Given the description of an element on the screen output the (x, y) to click on. 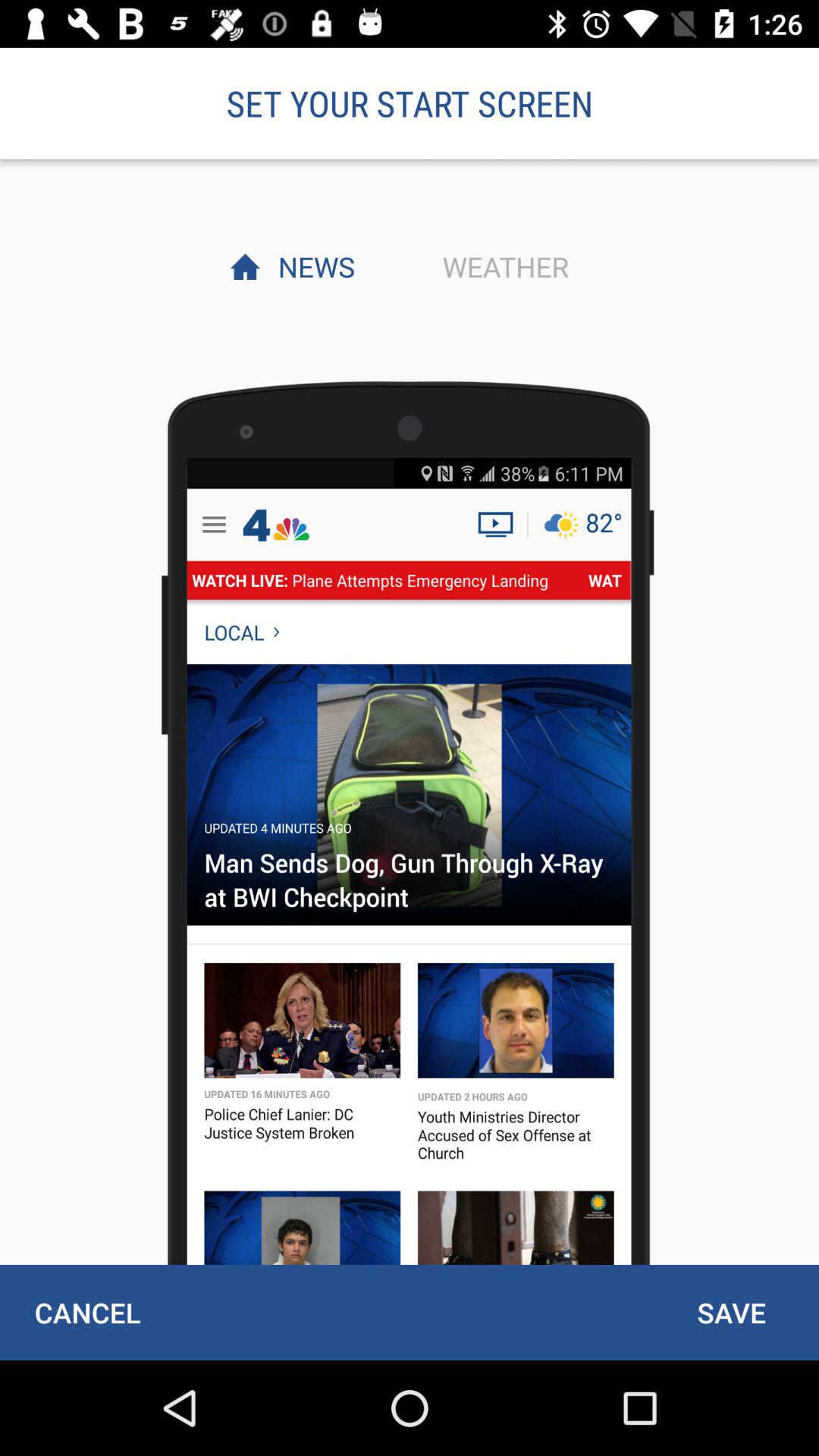
launch the news item (312, 266)
